Given the description of an element on the screen output the (x, y) to click on. 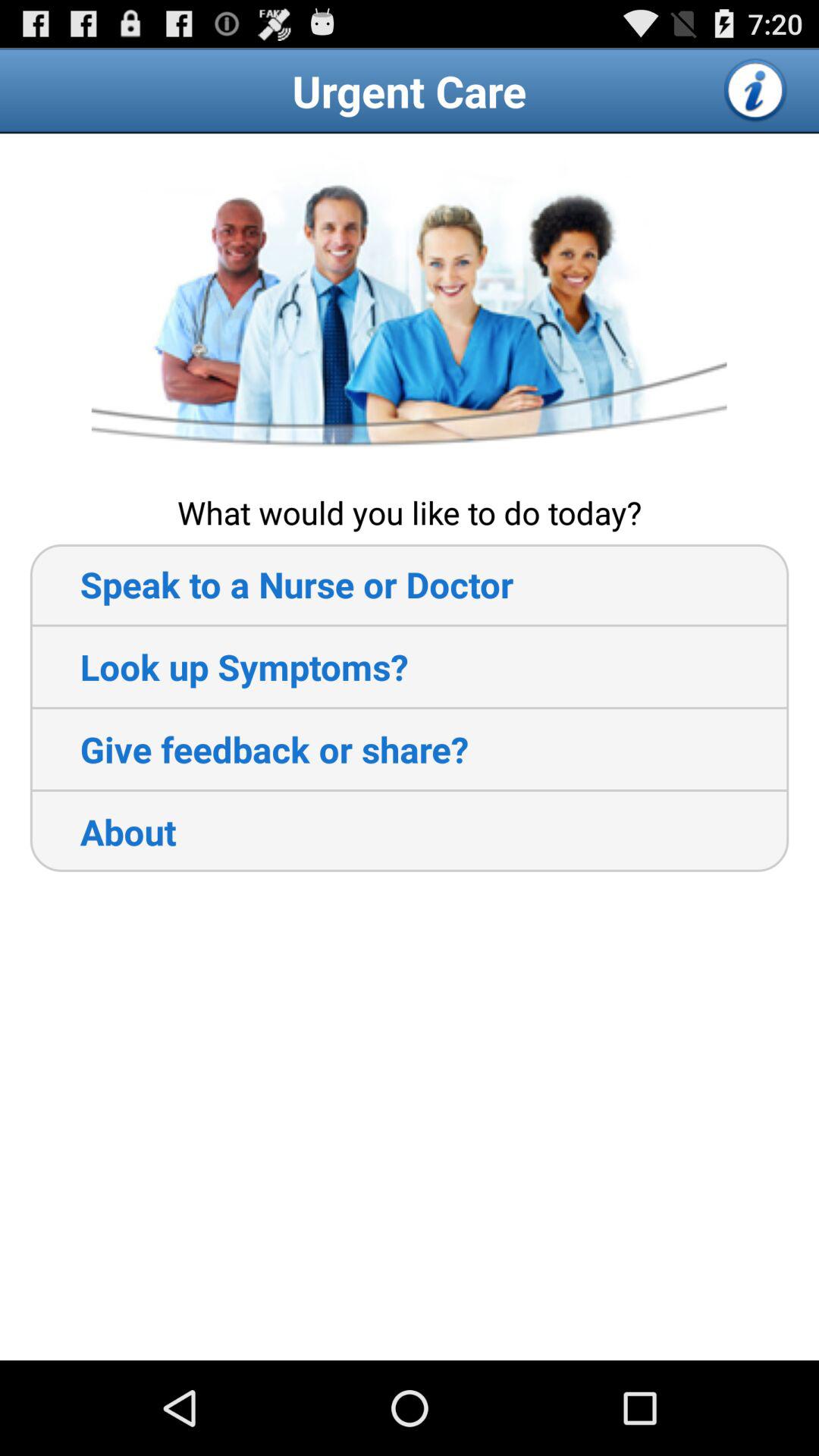
tap the item at the top right corner (756, 90)
